Given the description of an element on the screen output the (x, y) to click on. 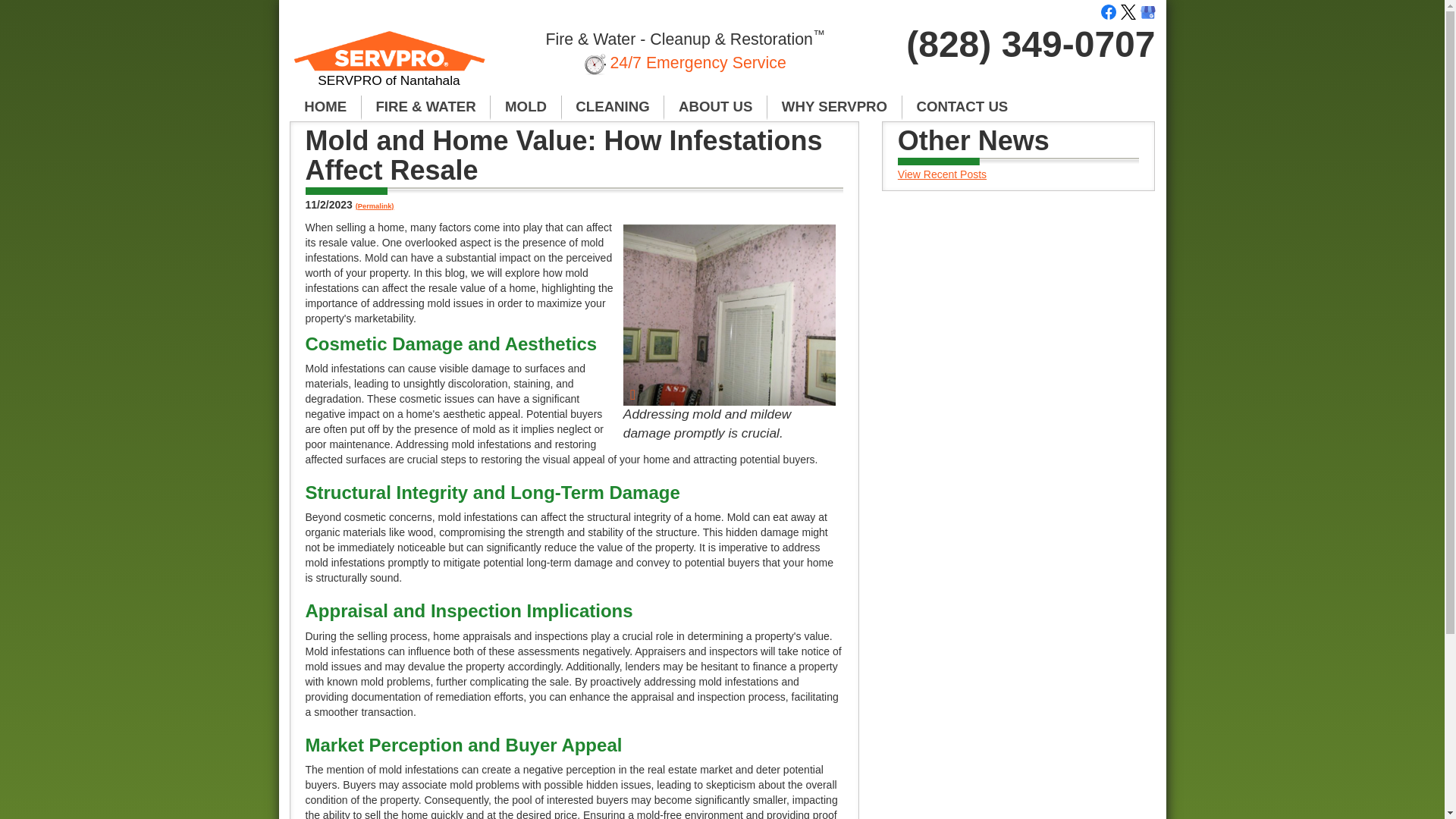
HOME (325, 107)
SERVPRO of Nantahala (389, 65)
CLEANING (613, 107)
MOLD (525, 107)
ABOUT US (715, 107)
